Given the description of an element on the screen output the (x, y) to click on. 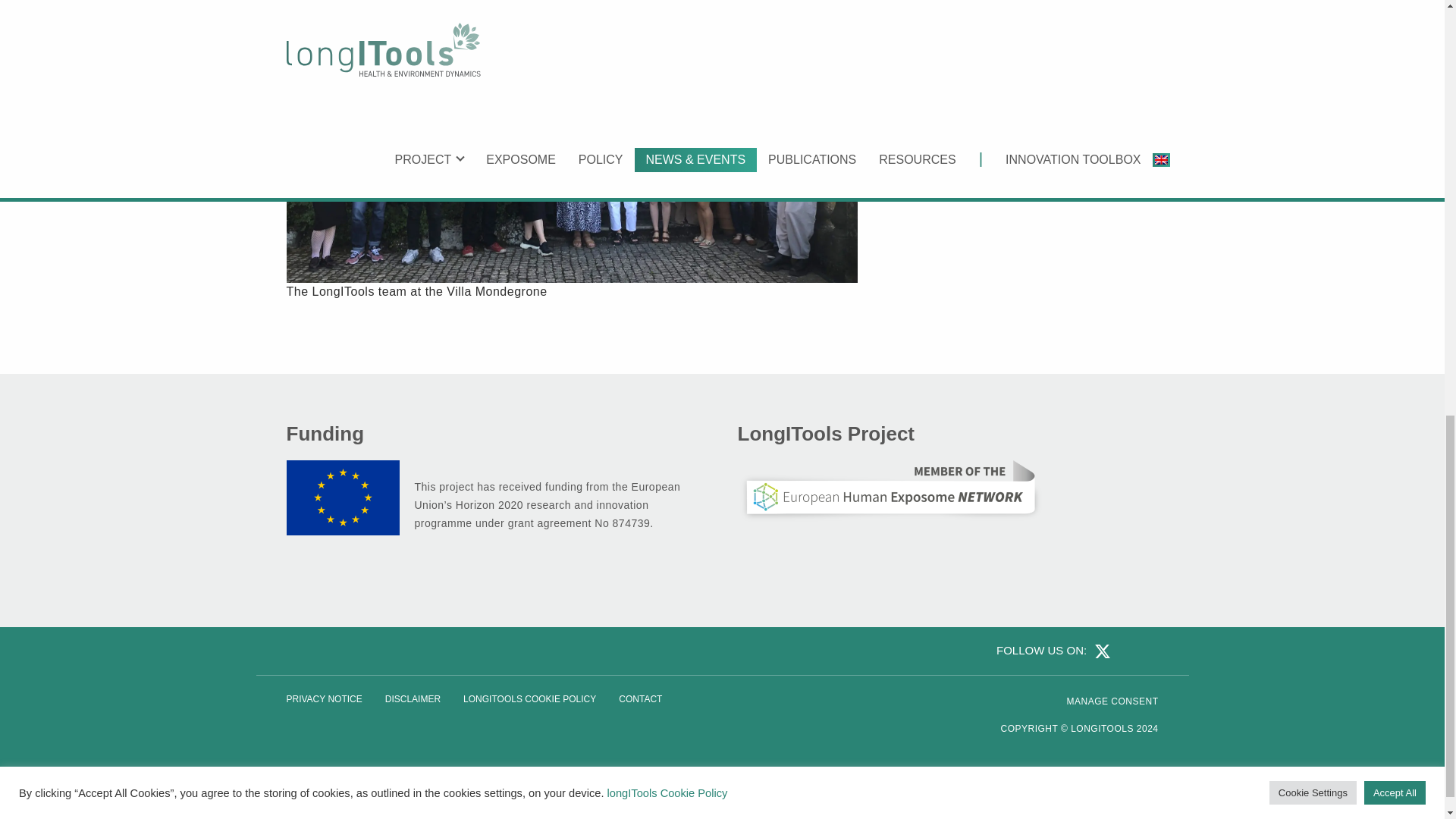
Follow us on Youtube (1146, 649)
Home (1102, 728)
Follow us on Linkedin (1126, 649)
DISCLAIMER (412, 699)
PRIVACY NOTICE (323, 699)
LINKEDIN (1126, 649)
YOUTUBE (1146, 649)
LONGITOOLS (1102, 728)
LONGITOOLS COOKIE POLICY (529, 699)
MANAGE CONSENT (1111, 701)
Follow us on X (1099, 649)
CONTACT (639, 699)
